Given the description of an element on the screen output the (x, y) to click on. 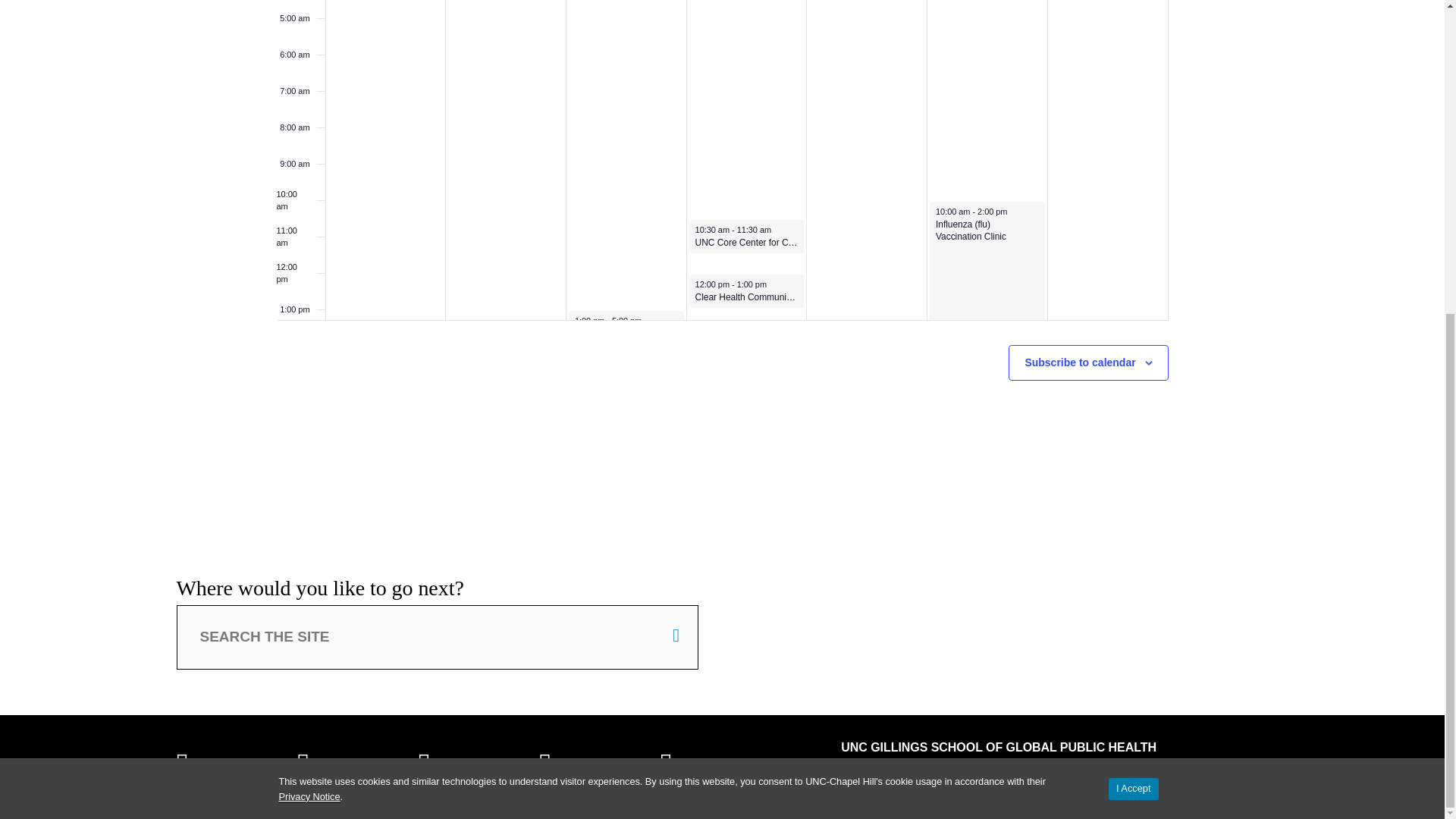
I Accept (1133, 286)
Privacy Notice (309, 294)
